Given the description of an element on the screen output the (x, y) to click on. 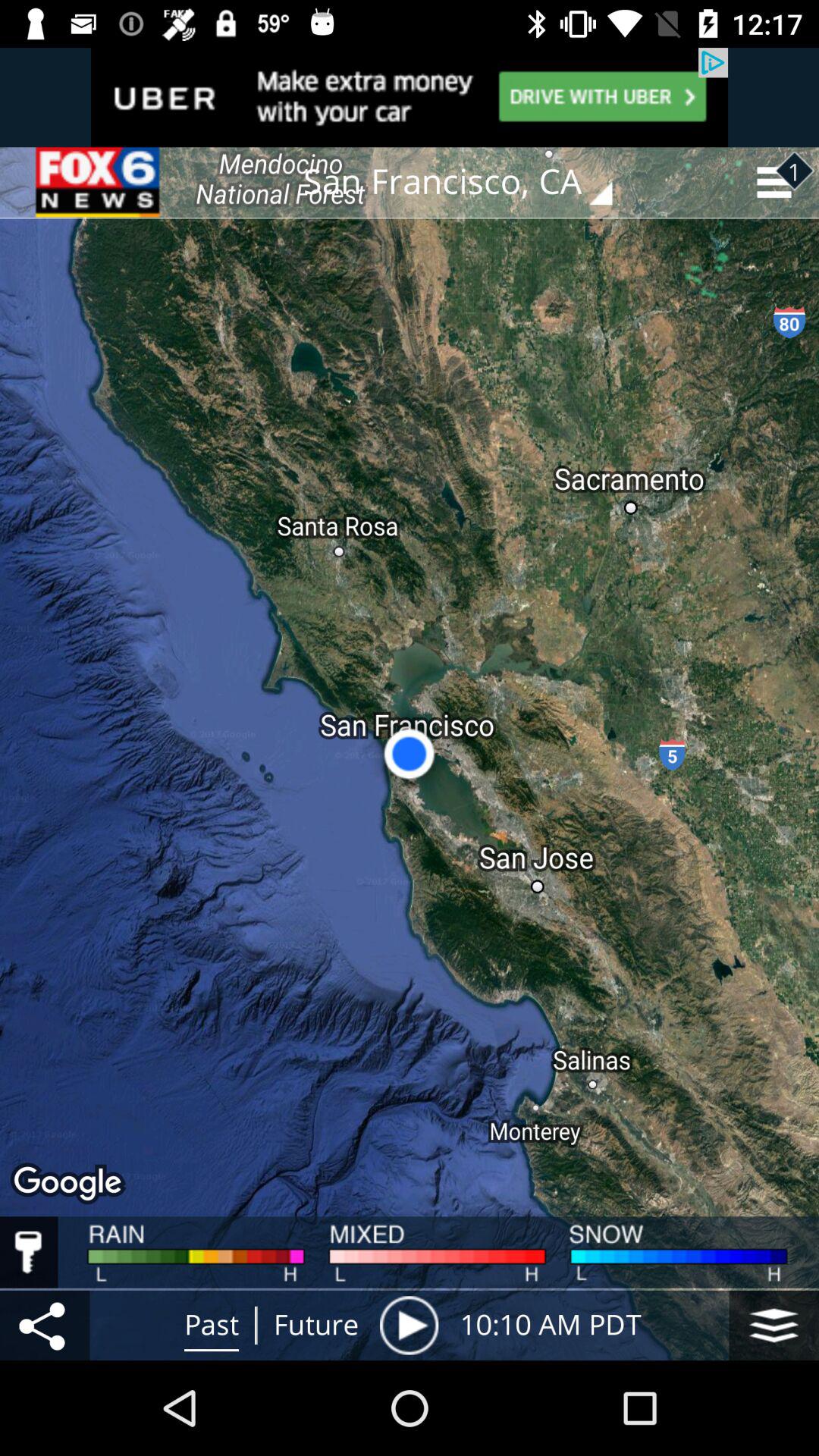
scroll until the san francisco, ca item (468, 182)
